Given the description of an element on the screen output the (x, y) to click on. 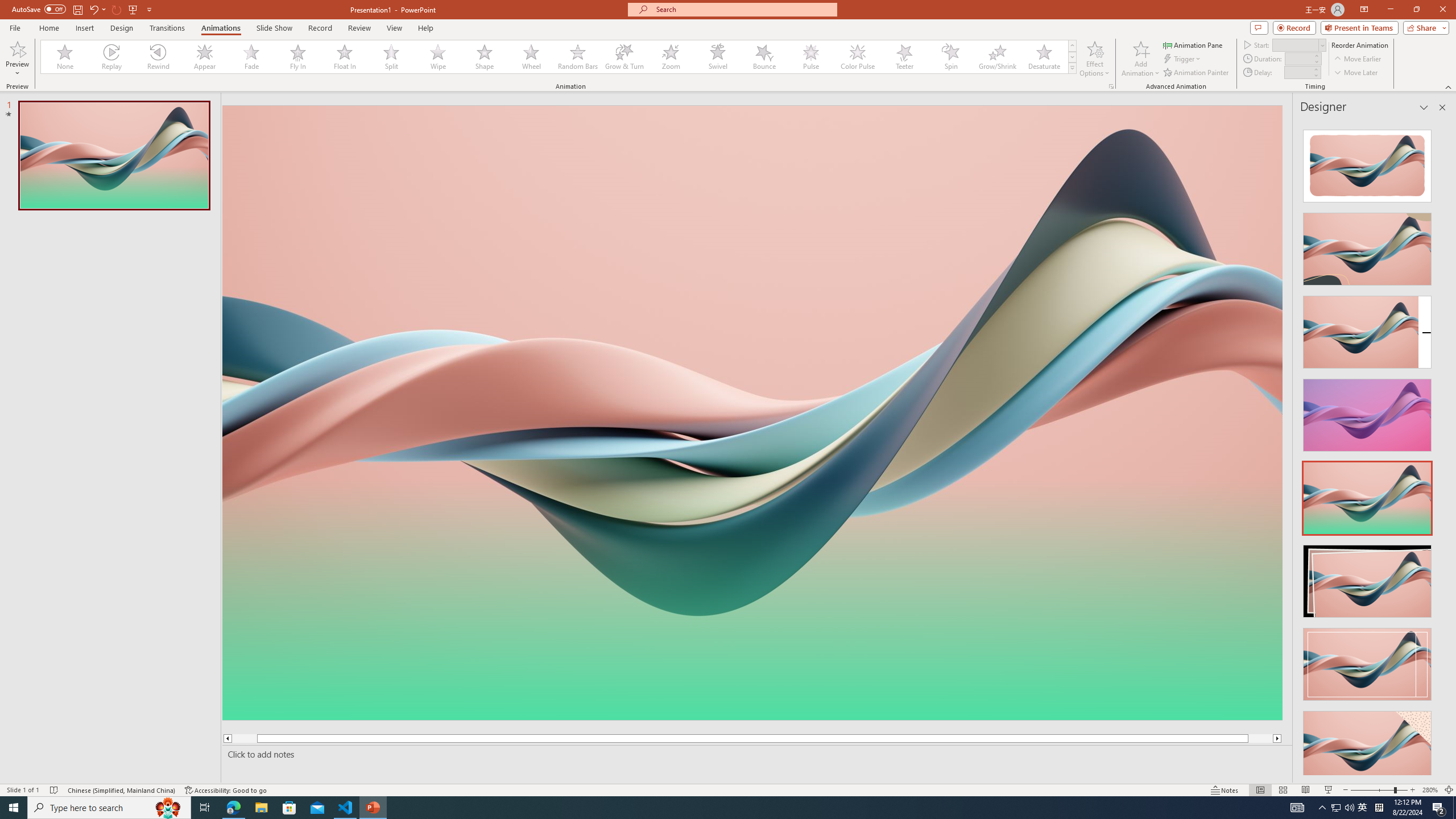
Move Earlier (1357, 58)
Bounce (764, 56)
More Options... (1110, 85)
Pulse (810, 56)
Class: NetUIScrollBar (1441, 447)
